Given the description of an element on the screen output the (x, y) to click on. 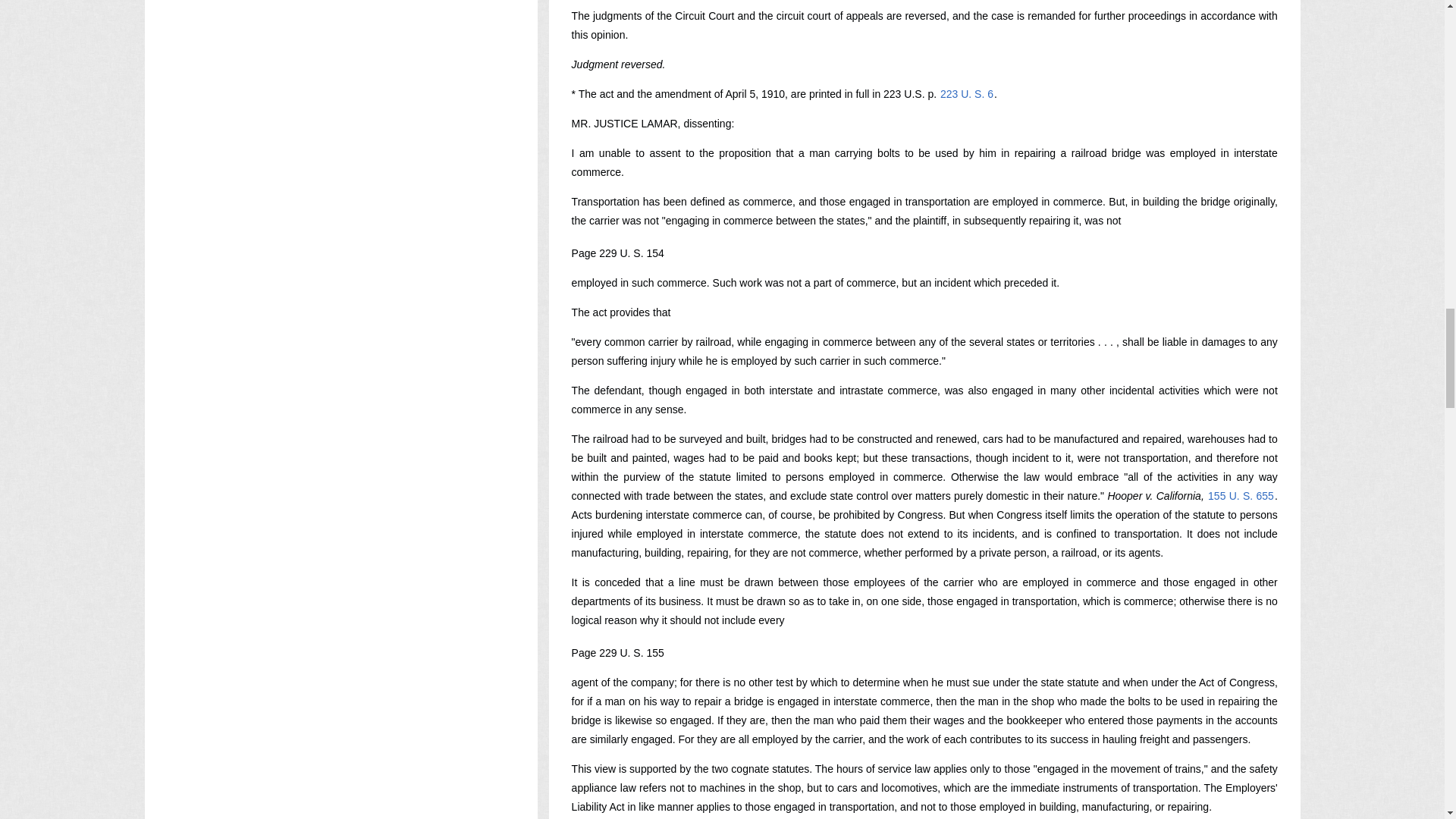
Page 229 U. S. 154 (617, 253)
Page 229 U. S. 155 (617, 653)
223 U. S. 6 (966, 93)
